Given the description of an element on the screen output the (x, y) to click on. 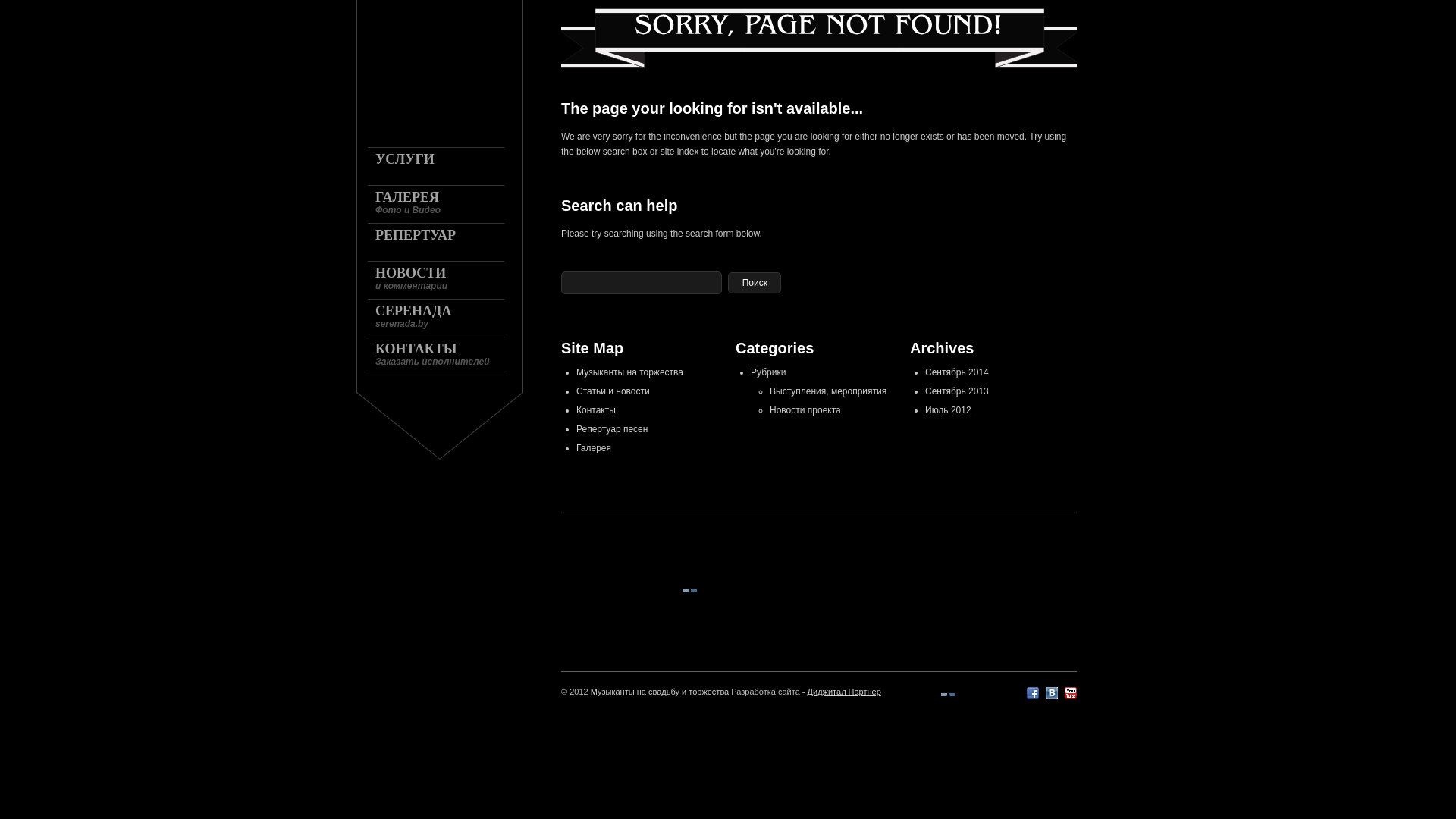
YouTube Element type: hover (1070, 693)
Facebook Element type: hover (1032, 693)
